Given the description of an element on the screen output the (x, y) to click on. 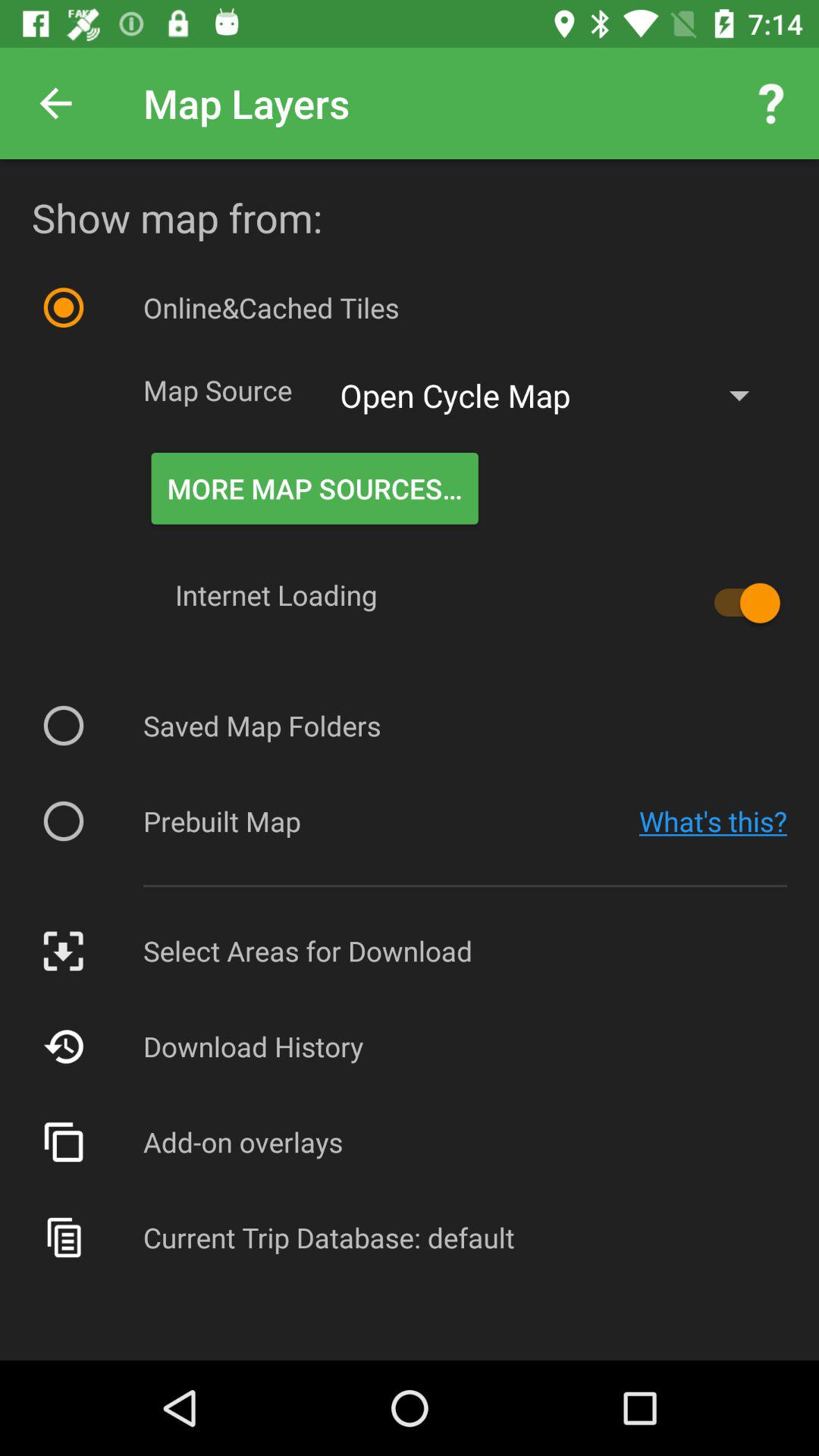
click on icon on the right side internet loading (739, 603)
